Given the description of an element on the screen output the (x, y) to click on. 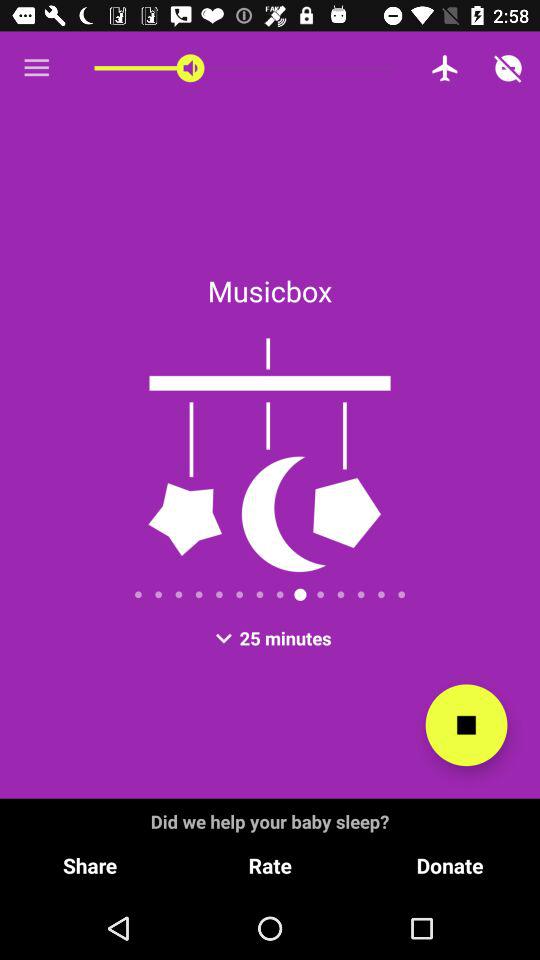
pauses music (466, 725)
